Given the description of an element on the screen output the (x, y) to click on. 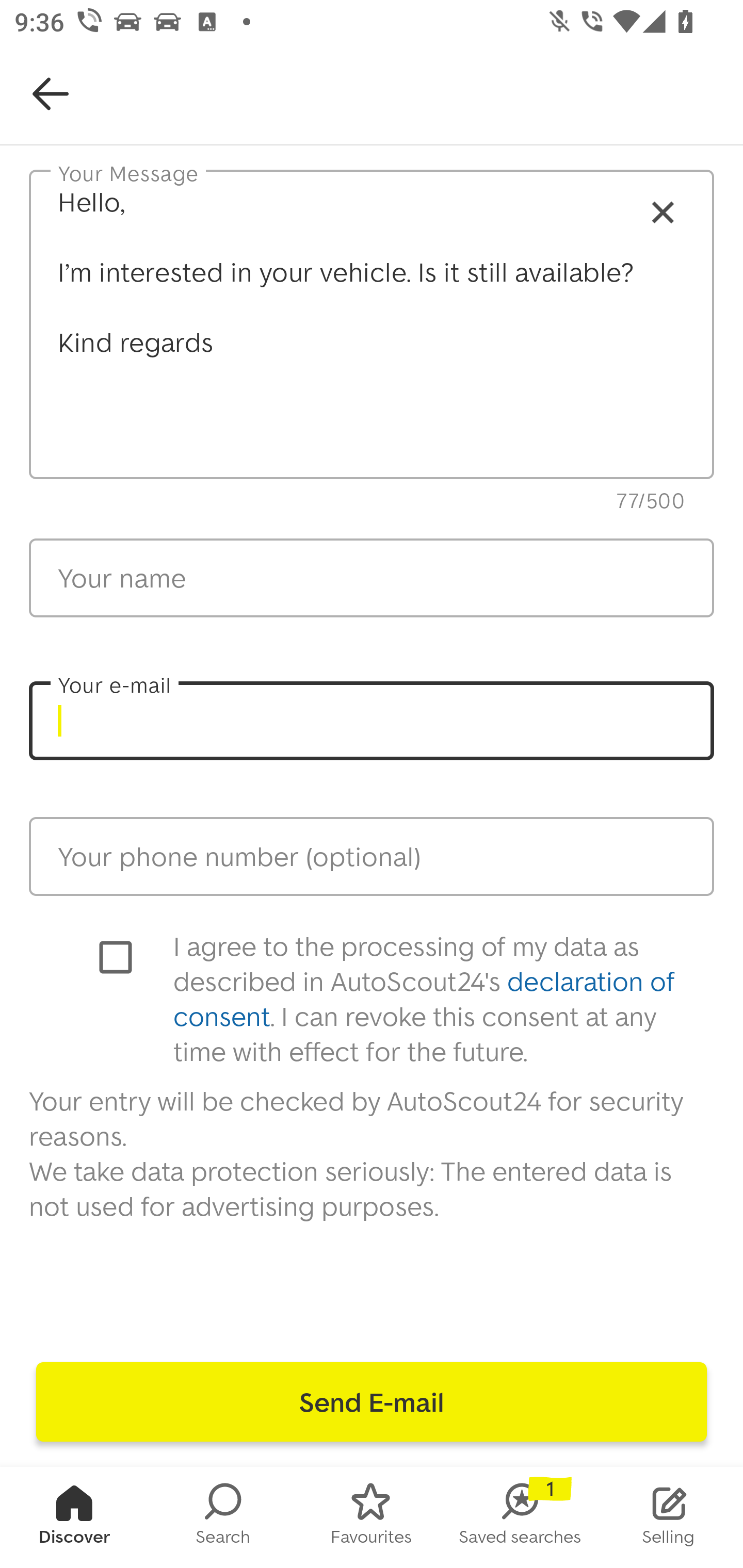
Navigate up (50, 93)
Your name (371, 577)
Your e-mail (371, 721)
Your phone number (optional) (371, 855)
Send E-mail (371, 1401)
HOMESCREEN Discover (74, 1517)
SEARCH Search (222, 1517)
FAVORITES Favourites (371, 1517)
SAVED_SEARCHES Saved searches 1 (519, 1517)
STOCK_LIST Selling (668, 1517)
